Given the description of an element on the screen output the (x, y) to click on. 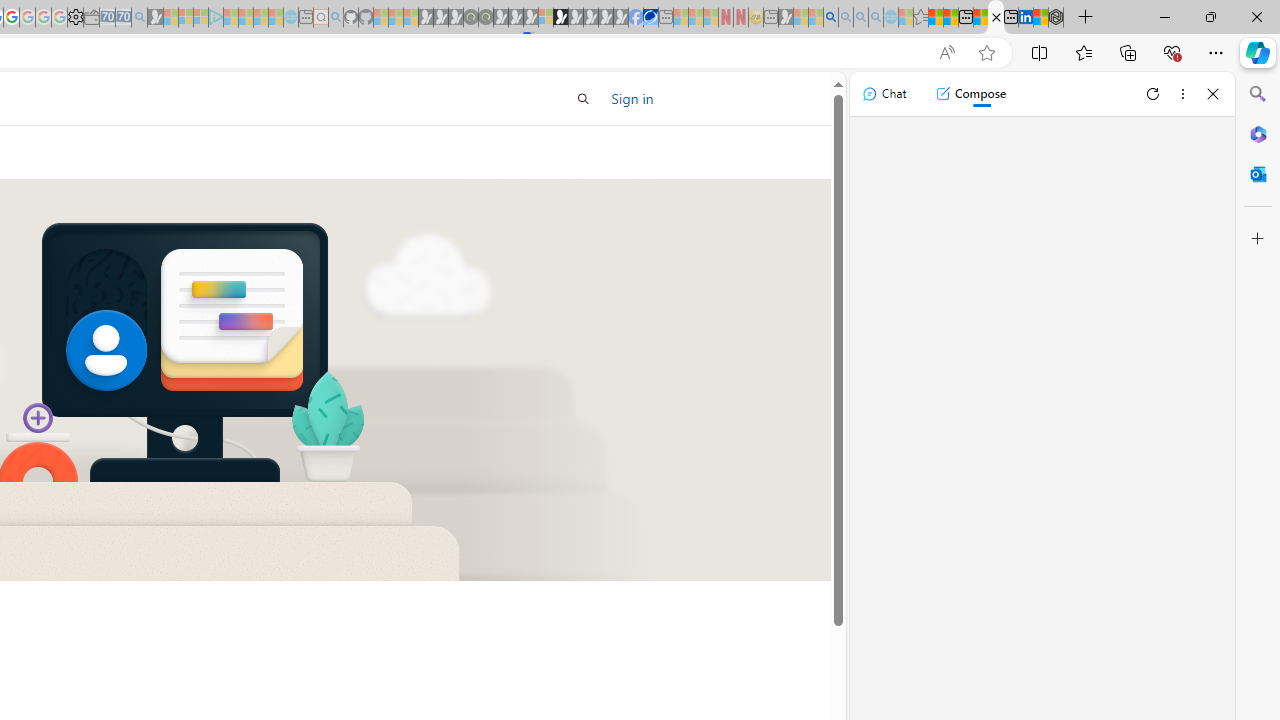
Sign in to your account - Sleeping (545, 17)
Favorites - Sleeping (920, 17)
MSN - Sleeping (786, 17)
Bing AI - Search (831, 17)
Future Focus Report 2024 - Sleeping (485, 17)
Microsoft account | Privacy - Sleeping (201, 17)
